Given the description of an element on the screen output the (x, y) to click on. 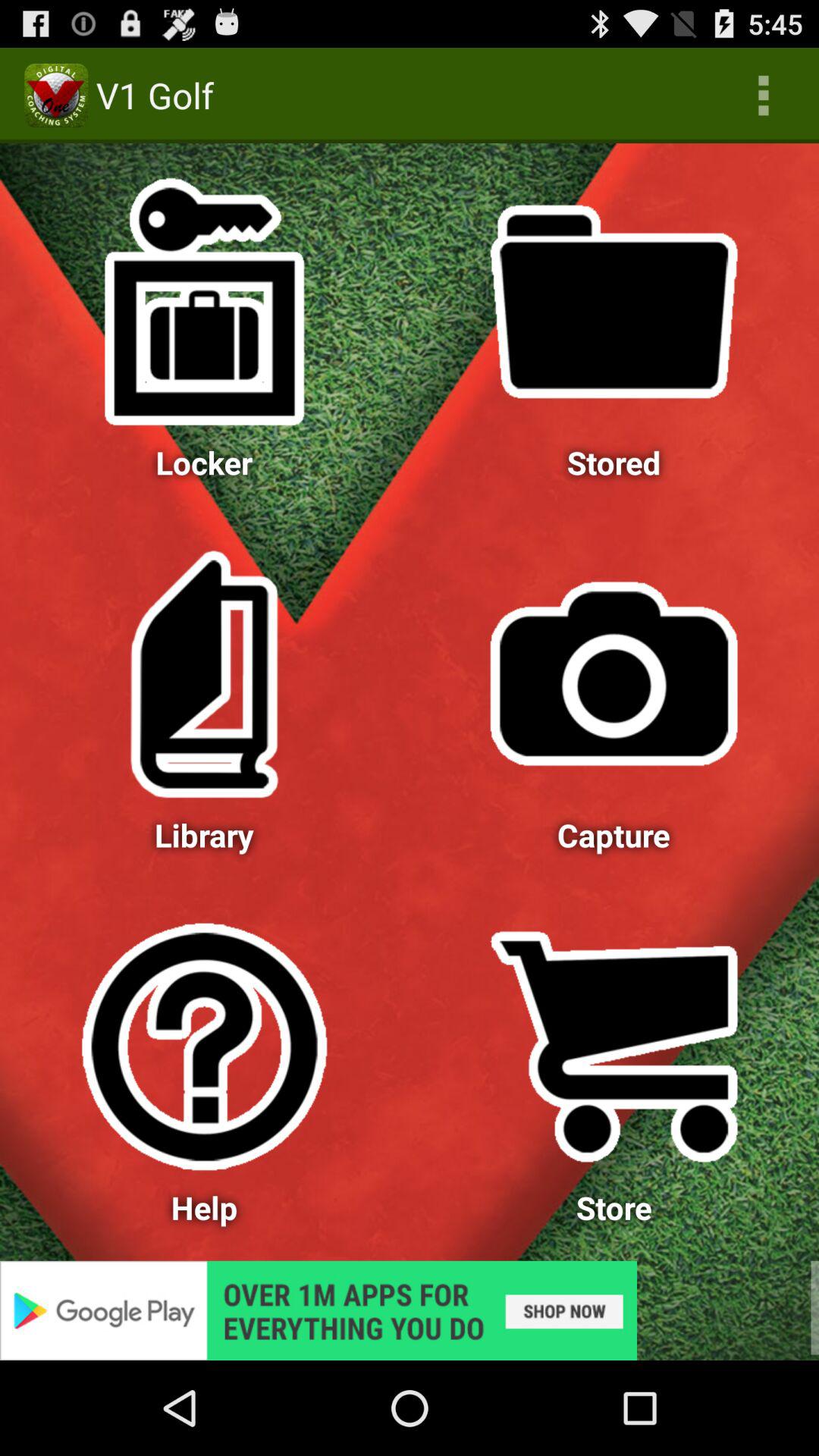
click app next to v1 golf app (763, 95)
